Given the description of an element on the screen output the (x, y) to click on. 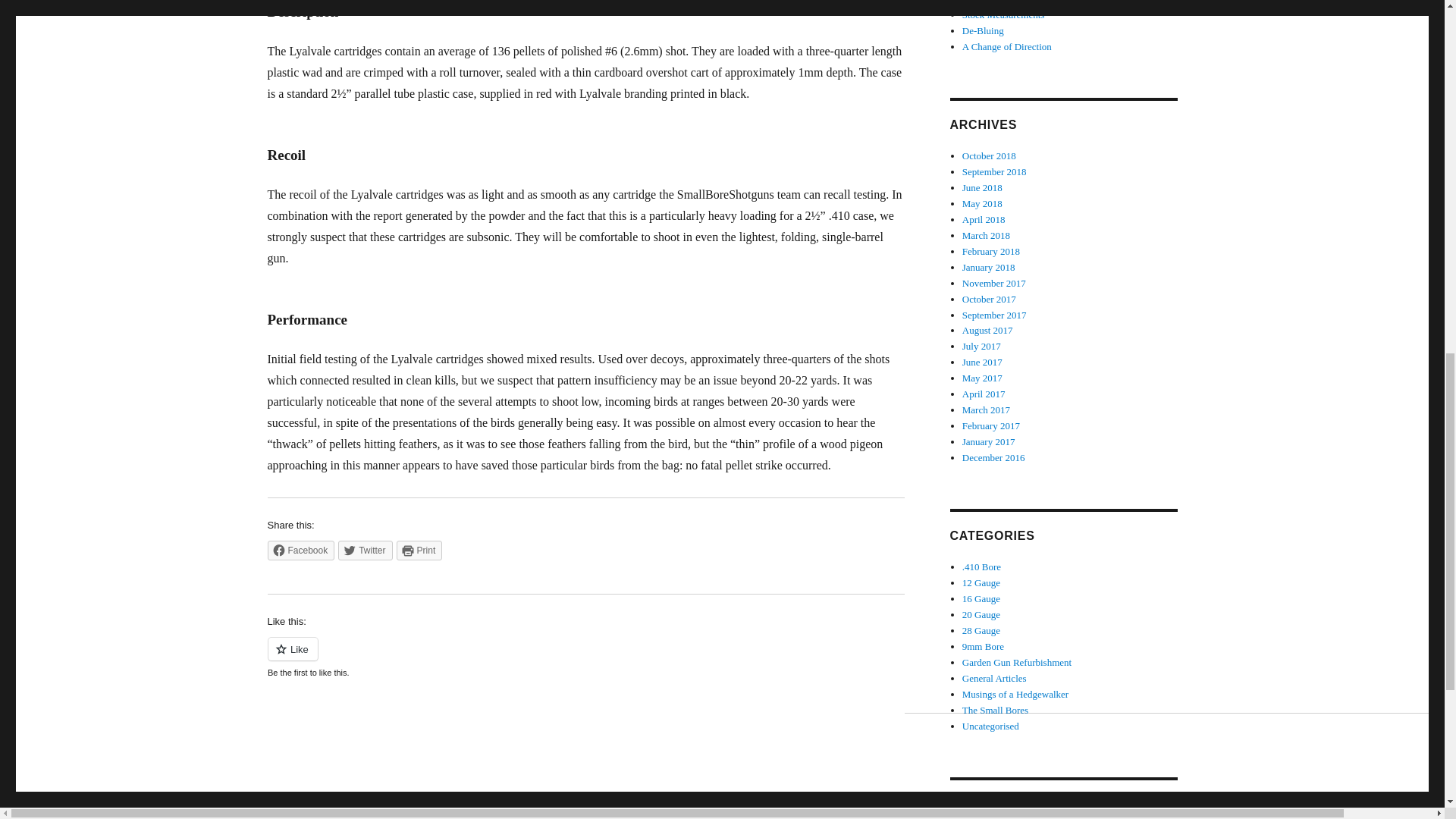
Print (419, 550)
De-Bluing (983, 30)
June 2018 (982, 187)
Facebook (300, 550)
September 2018 (994, 171)
April 2018 (984, 219)
Click to share on Twitter (364, 550)
Twitter (364, 550)
Click to share on Facebook (300, 550)
Click to print (419, 550)
